Given the description of an element on the screen output the (x, y) to click on. 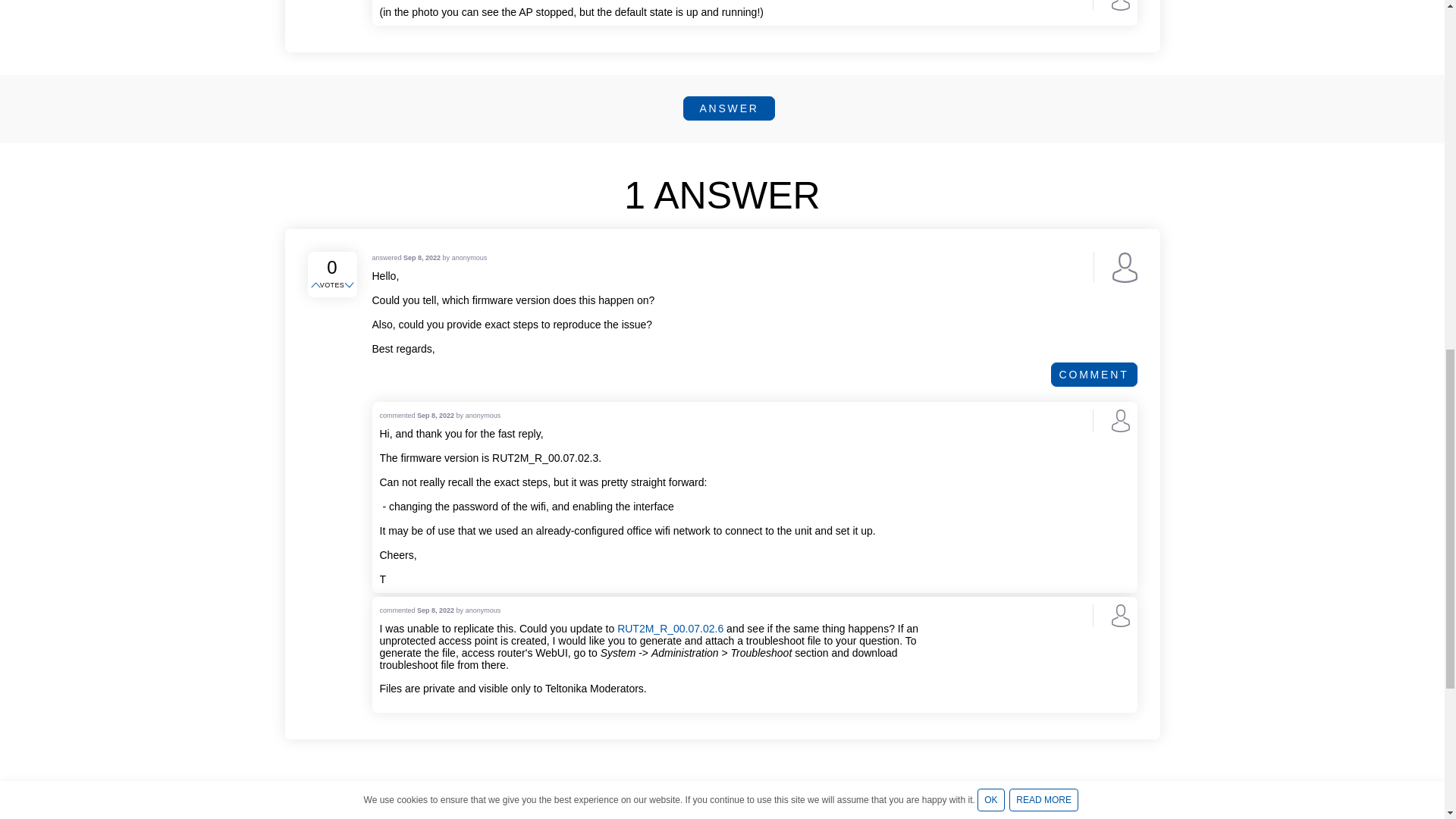
Click to vote down (349, 285)
Click to vote up (317, 285)
Add a comment on this answer (1094, 374)
Answer this question (728, 108)
answer (728, 108)
comment (1094, 374)
